Given the description of an element on the screen output the (x, y) to click on. 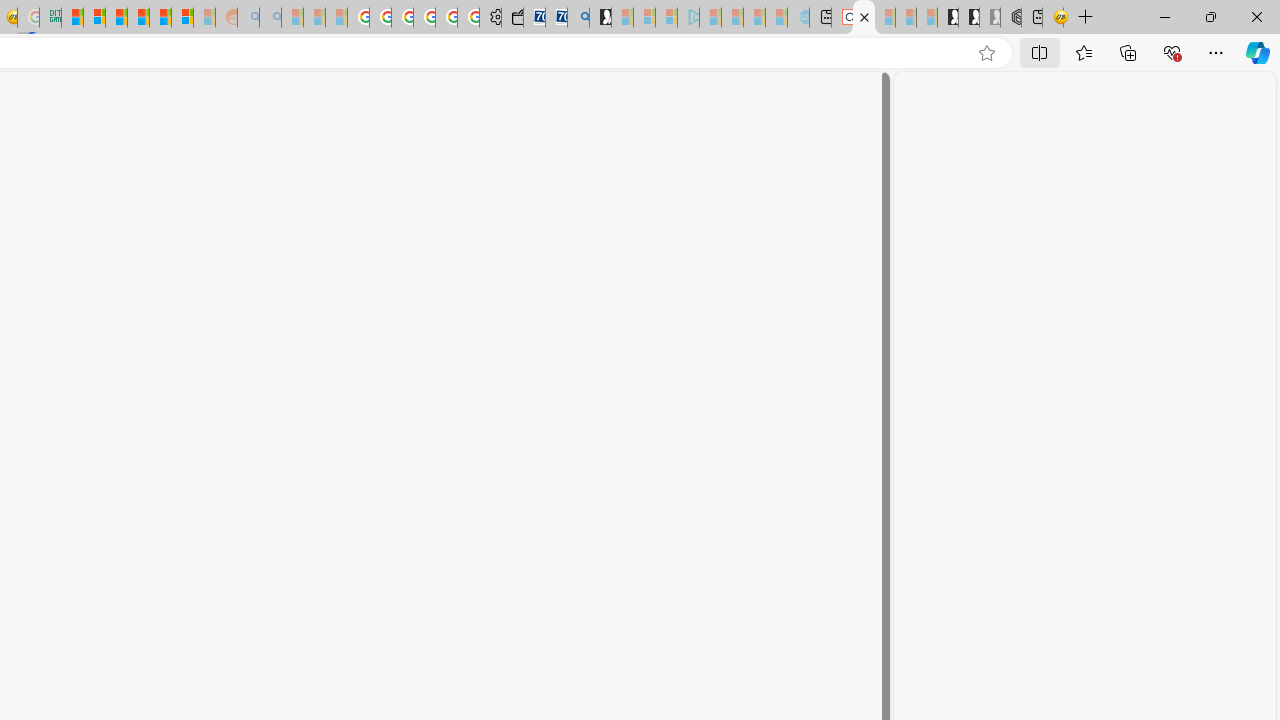
Collections (1128, 52)
Browser essentials (1171, 52)
Nordace - Nordace Siena Is Not An Ordinary Backpack (1011, 17)
DITOGAMES AG Imprint (50, 17)
Microsoft Start Gaming (600, 17)
New Tab (1085, 17)
Close (1256, 16)
